Given the description of an element on the screen output the (x, y) to click on. 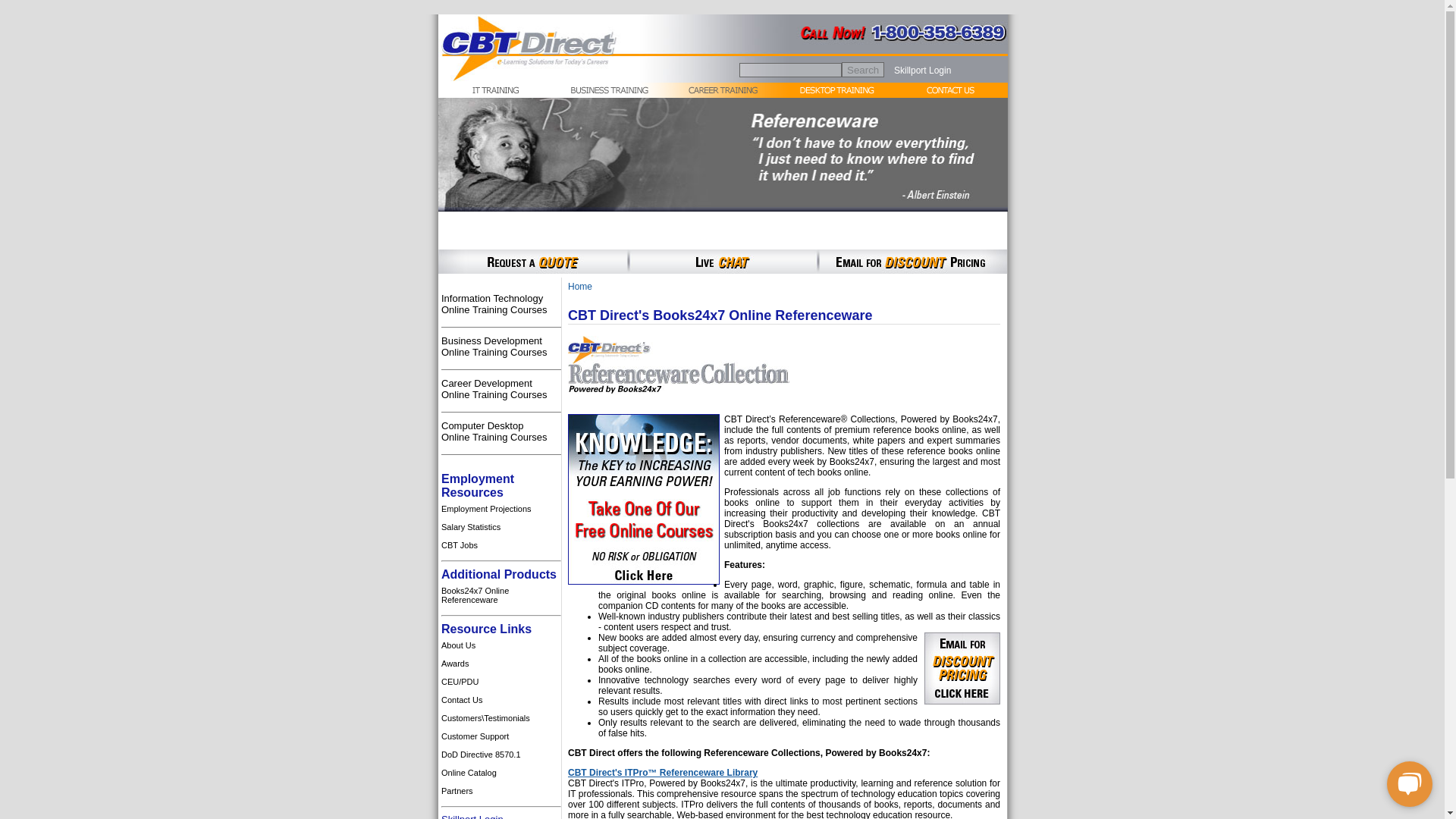
Search (862, 69)
Contact Us (500, 700)
Salary Statistics (500, 526)
Customer Support (494, 388)
Books24x7 Online Referenceware (494, 345)
Skillport Login (500, 736)
Partners (500, 595)
Online Catalog (472, 815)
CBT Jobs (500, 791)
Skillport Login (494, 303)
Awards (500, 772)
Home (500, 545)
